Given the description of an element on the screen output the (x, y) to click on. 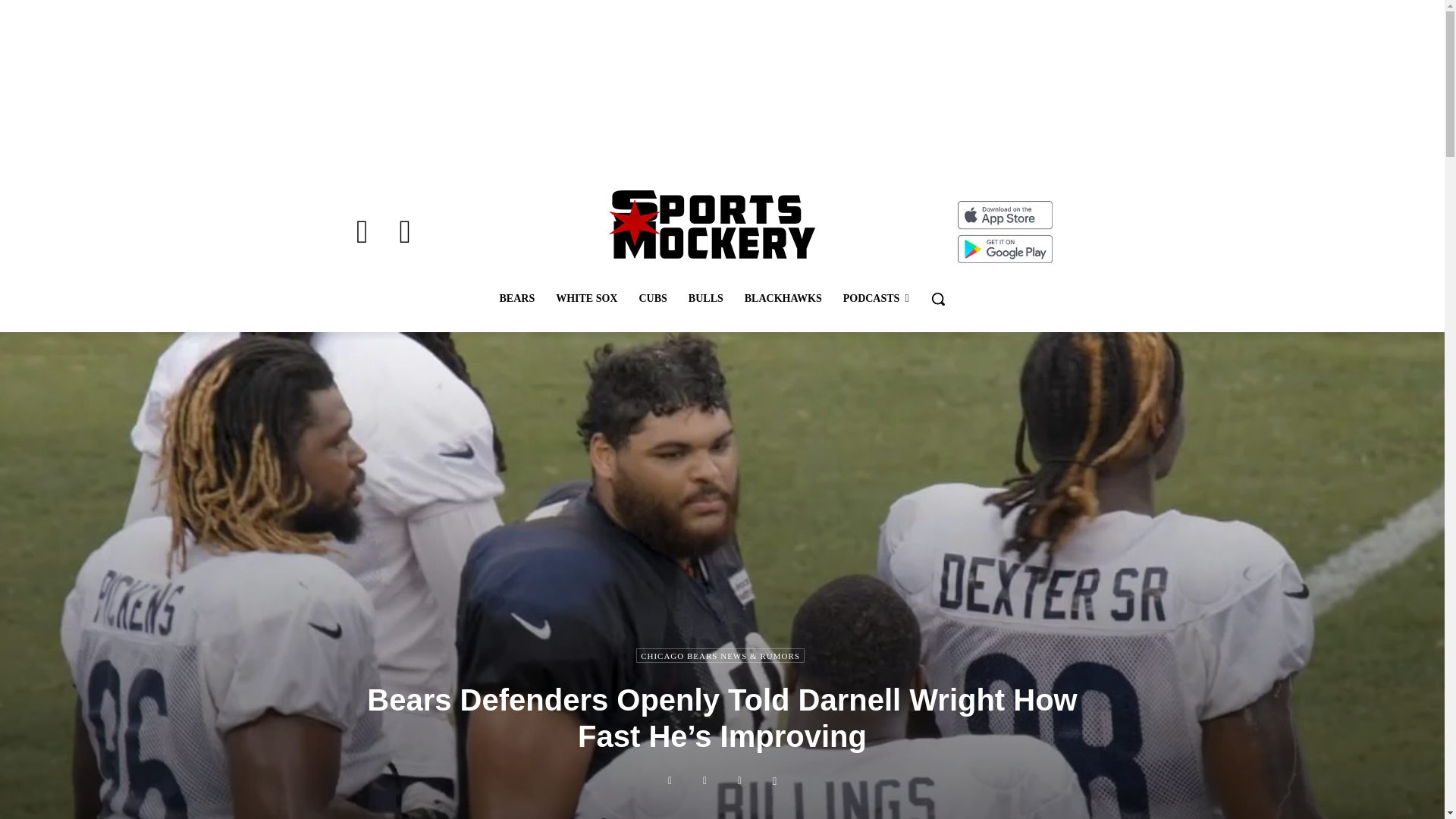
PODCASTS (876, 298)
CUBS (652, 298)
BEARS (515, 298)
Twitter (405, 231)
BULLS (705, 298)
Chicago Sports News (711, 224)
BLACKHAWKS (782, 298)
Chicago Sports News (711, 224)
WHITE SOX (585, 298)
Facebook (361, 231)
